Given the description of an element on the screen output the (x, y) to click on. 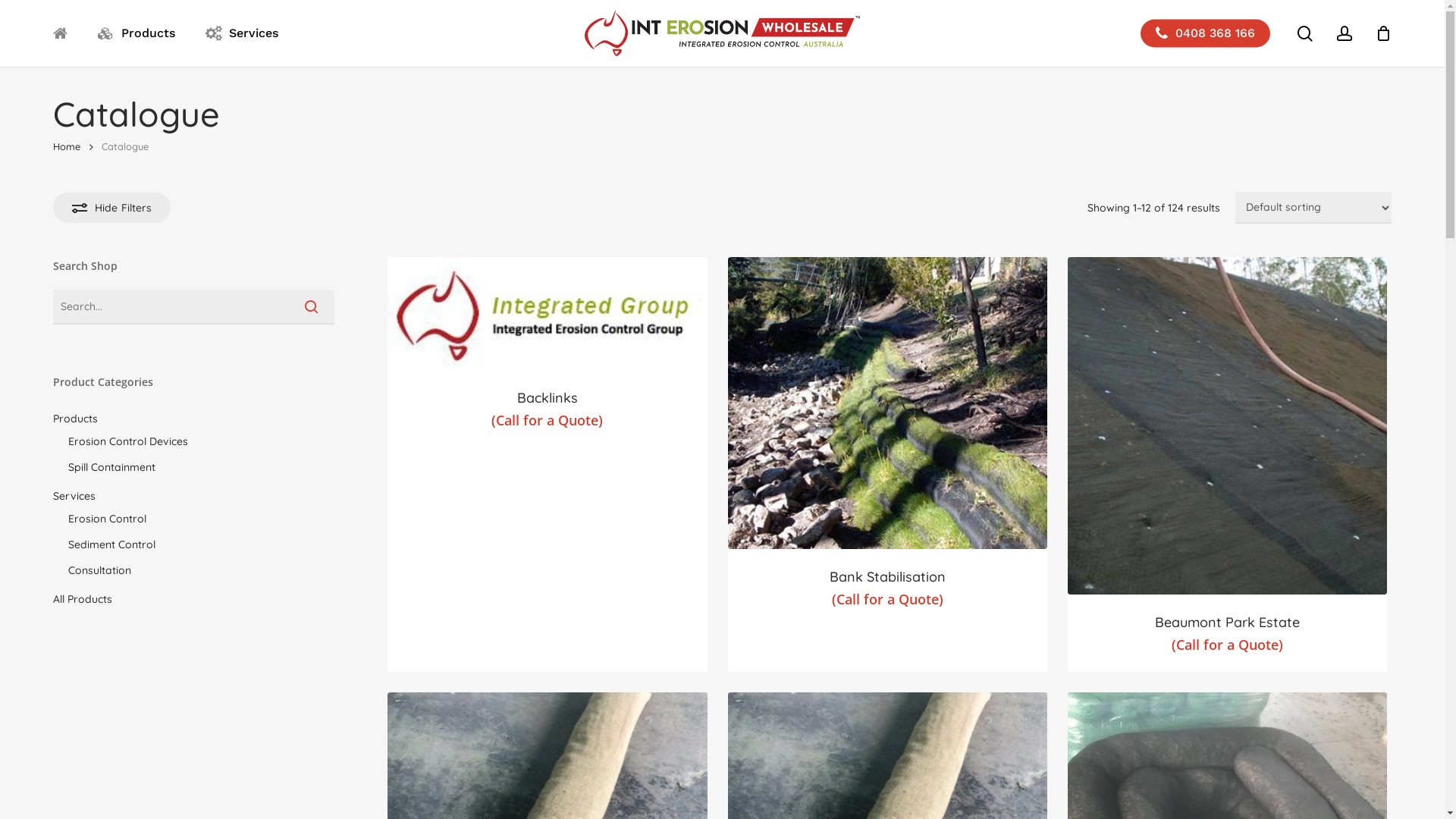
(Call for a Quote) Element type: text (1227, 644)
Erosion Control Devices Element type: text (201, 441)
Sediment Control Element type: text (201, 544)
(Call for a Quote) Element type: text (546, 420)
Home Element type: text (66, 146)
All Products Element type: text (193, 598)
Spill Containment Element type: text (201, 466)
Consultation Element type: text (201, 570)
Services Element type: text (241, 32)
search Element type: text (1304, 33)
0408 368 166 Element type: text (1205, 32)
Backlinks Element type: text (546, 398)
Beaumont Park Estate Element type: text (1227, 623)
Erosion Control Element type: text (201, 518)
Services Element type: text (193, 495)
(Call for a Quote) Element type: text (887, 598)
Products Element type: text (136, 33)
Search for: Element type: hover (193, 306)
Bank Stabilisation Element type: text (887, 577)
Hide
Filters Element type: text (111, 207)
account Element type: text (1344, 33)
Products Element type: text (193, 418)
